Given the description of an element on the screen output the (x, y) to click on. 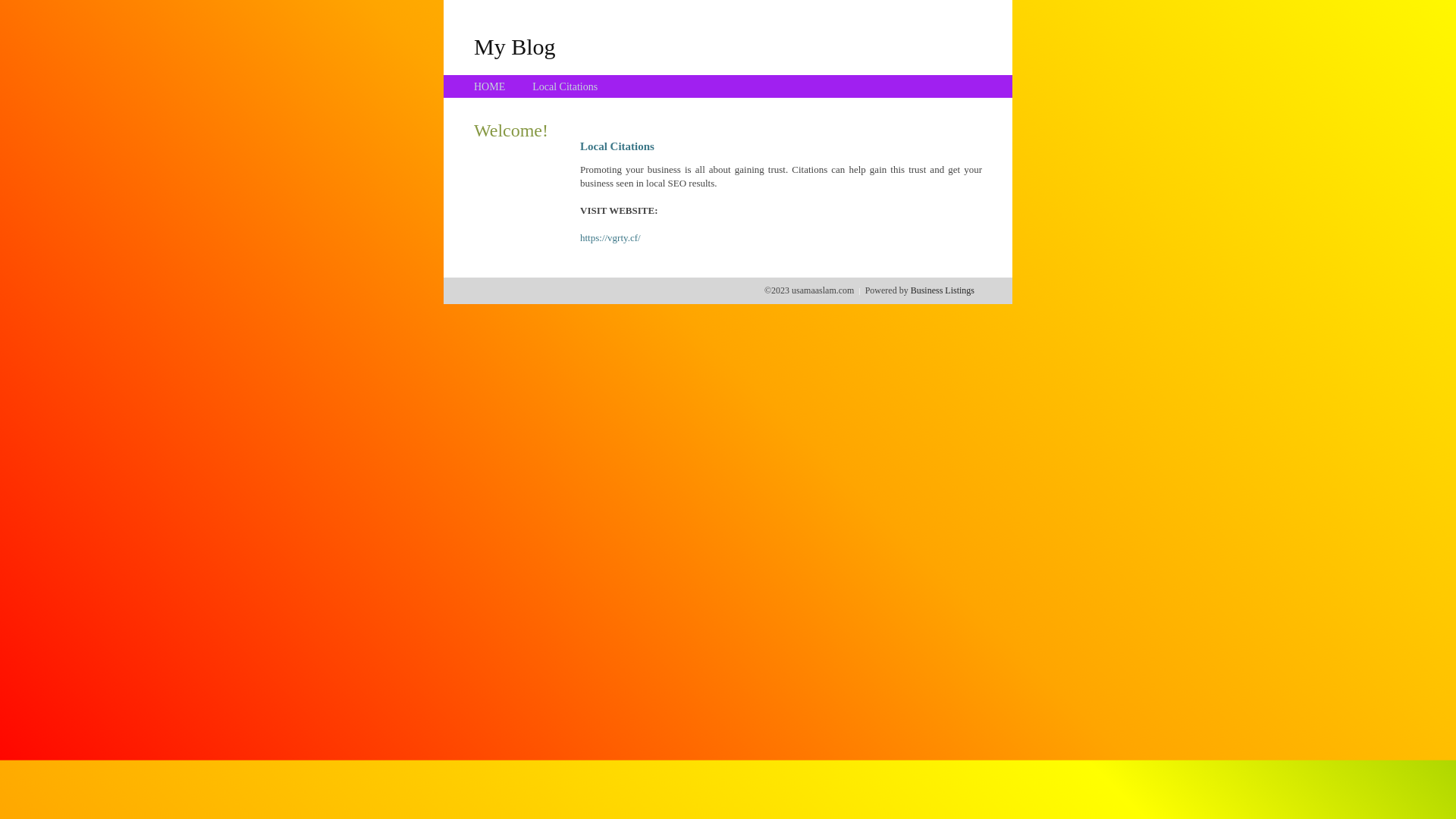
HOME Element type: text (489, 86)
Business Listings Element type: text (942, 290)
My Blog Element type: text (514, 46)
Local Citations Element type: text (564, 86)
https://vgrty.cf/ Element type: text (610, 237)
